Given the description of an element on the screen output the (x, y) to click on. 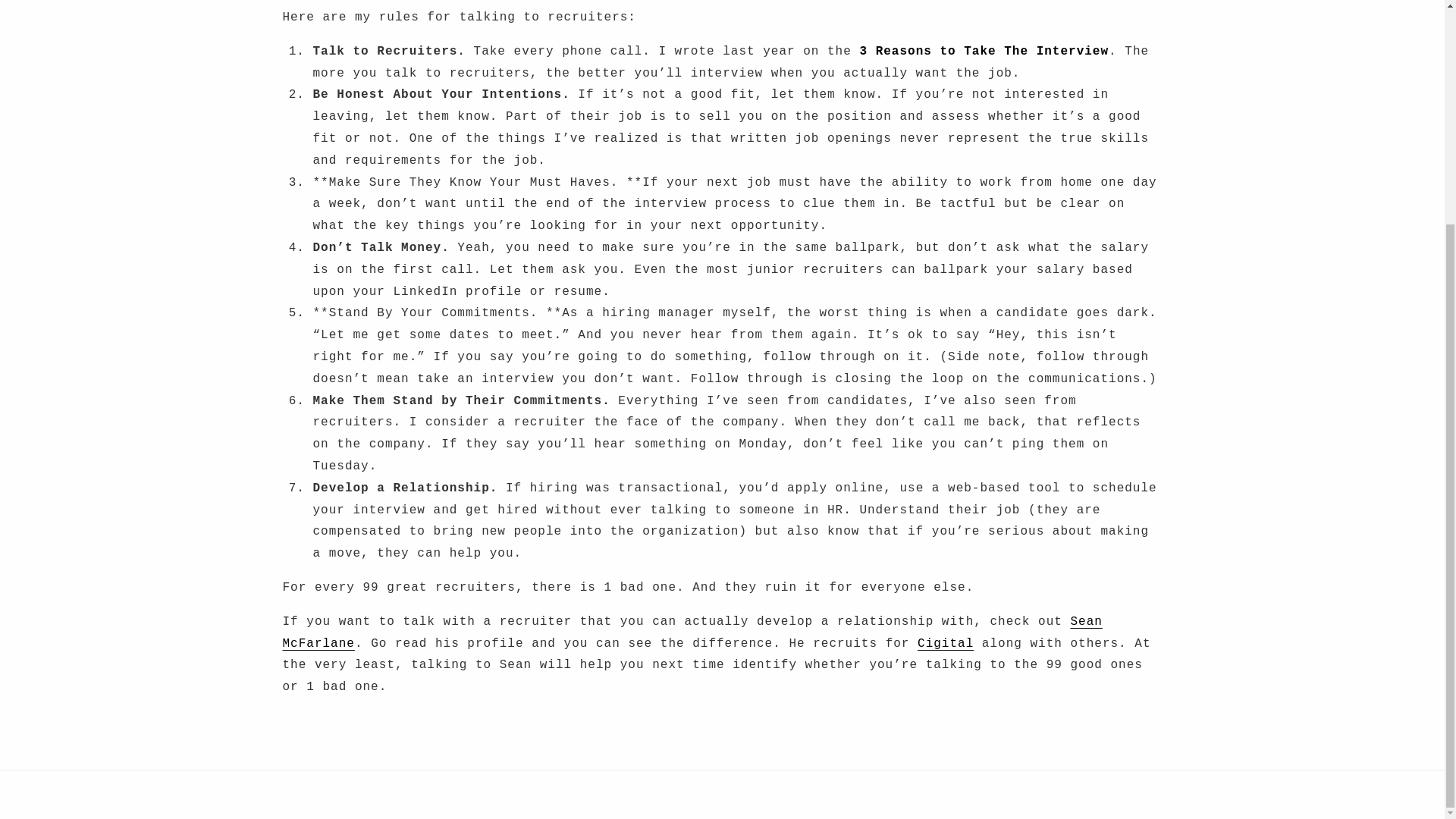
3 Reasons to Take The Interview (983, 51)
Cigital (945, 643)
Sean McFarlane (692, 632)
